Given the description of an element on the screen output the (x, y) to click on. 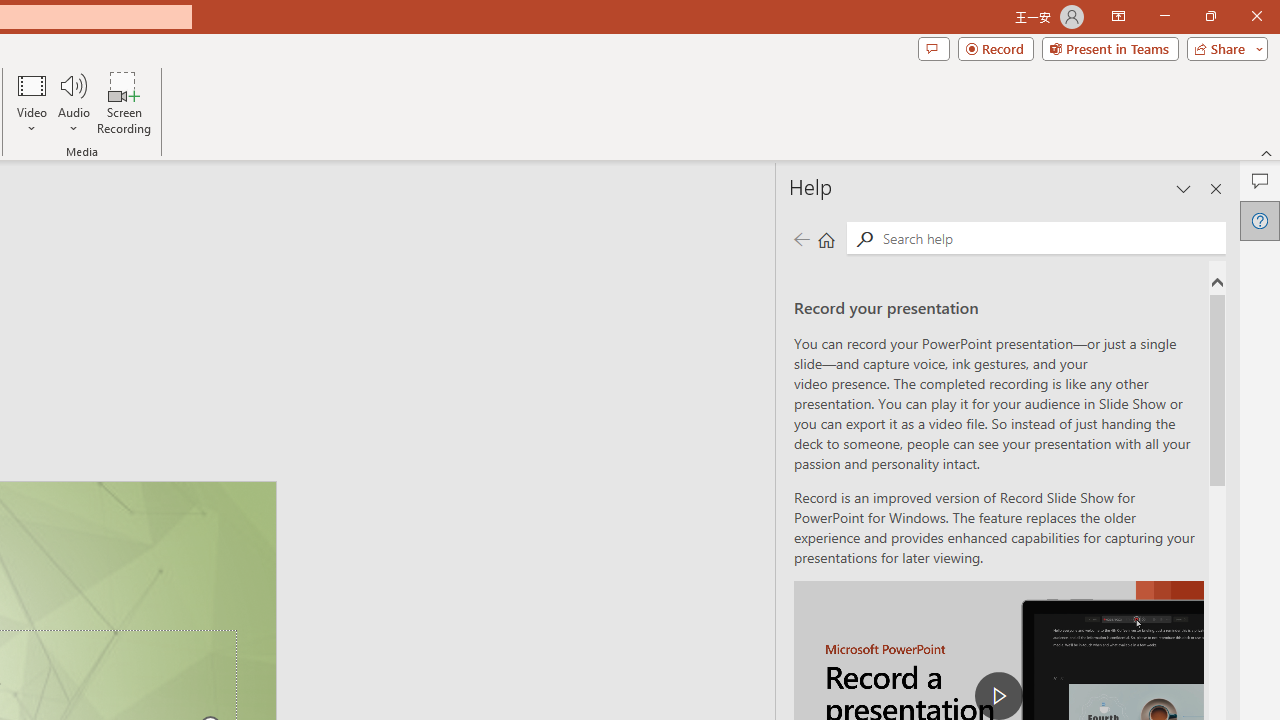
Audio (73, 102)
